Given the description of an element on the screen output the (x, y) to click on. 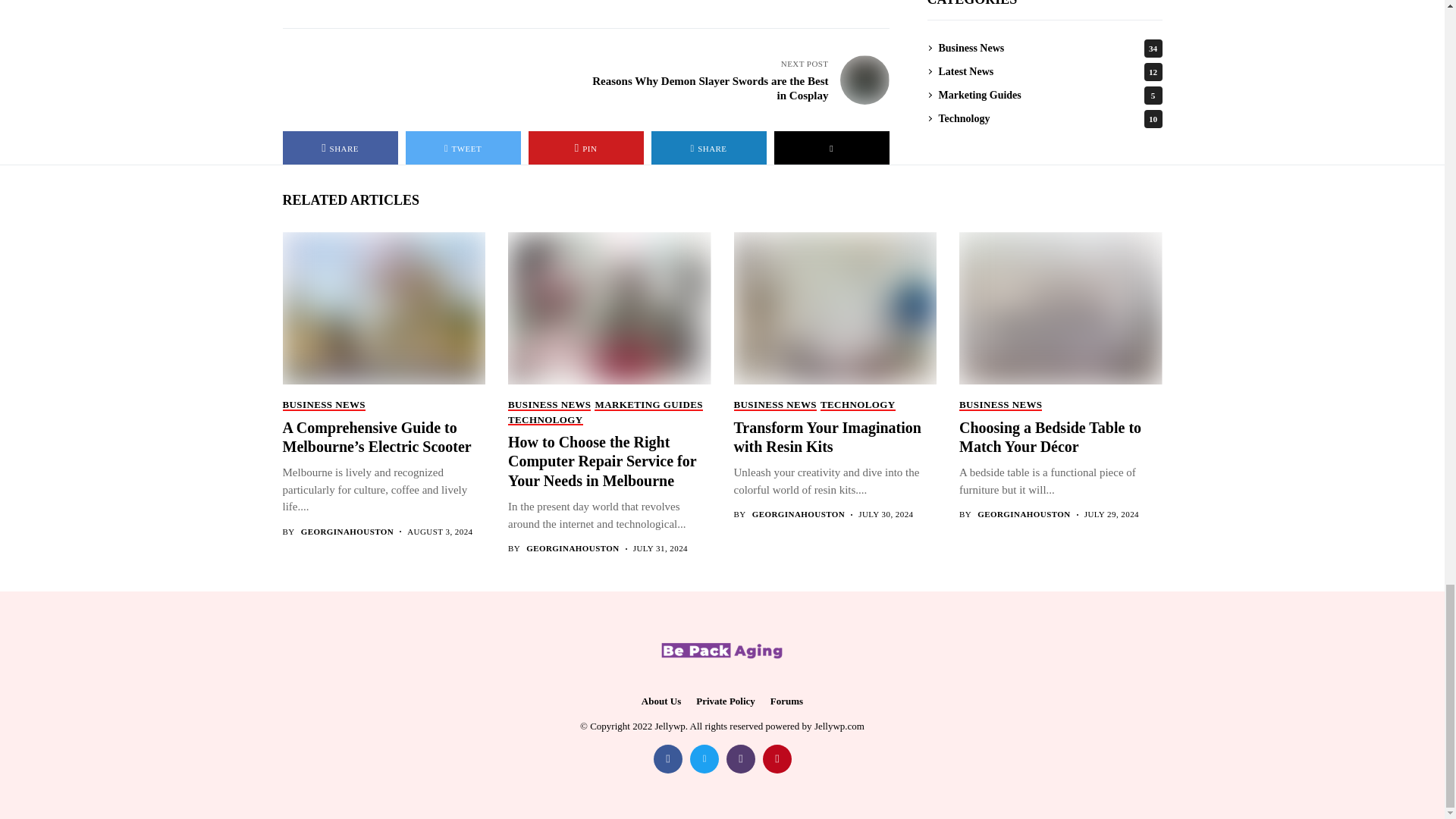
Posts by GeorginaHouston (1023, 514)
Posts by GeorginaHouston (798, 514)
Posts by GeorginaHouston (572, 548)
Posts by GeorginaHouston (347, 532)
